Given the description of an element on the screen output the (x, y) to click on. 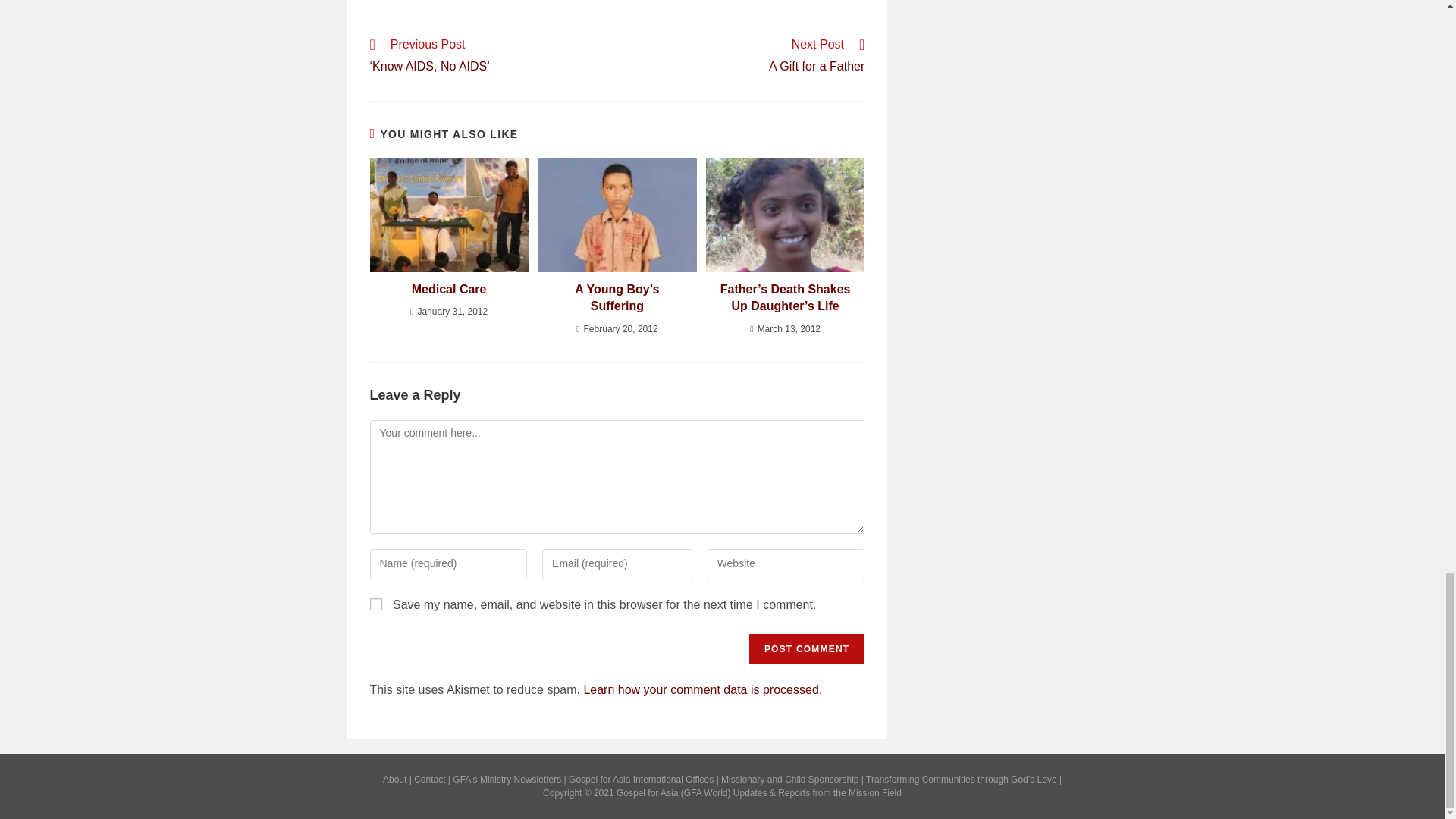
Post Comment (806, 648)
Gospel for Asia International Offices (641, 778)
yes (375, 604)
